Given the description of an element on the screen output the (x, y) to click on. 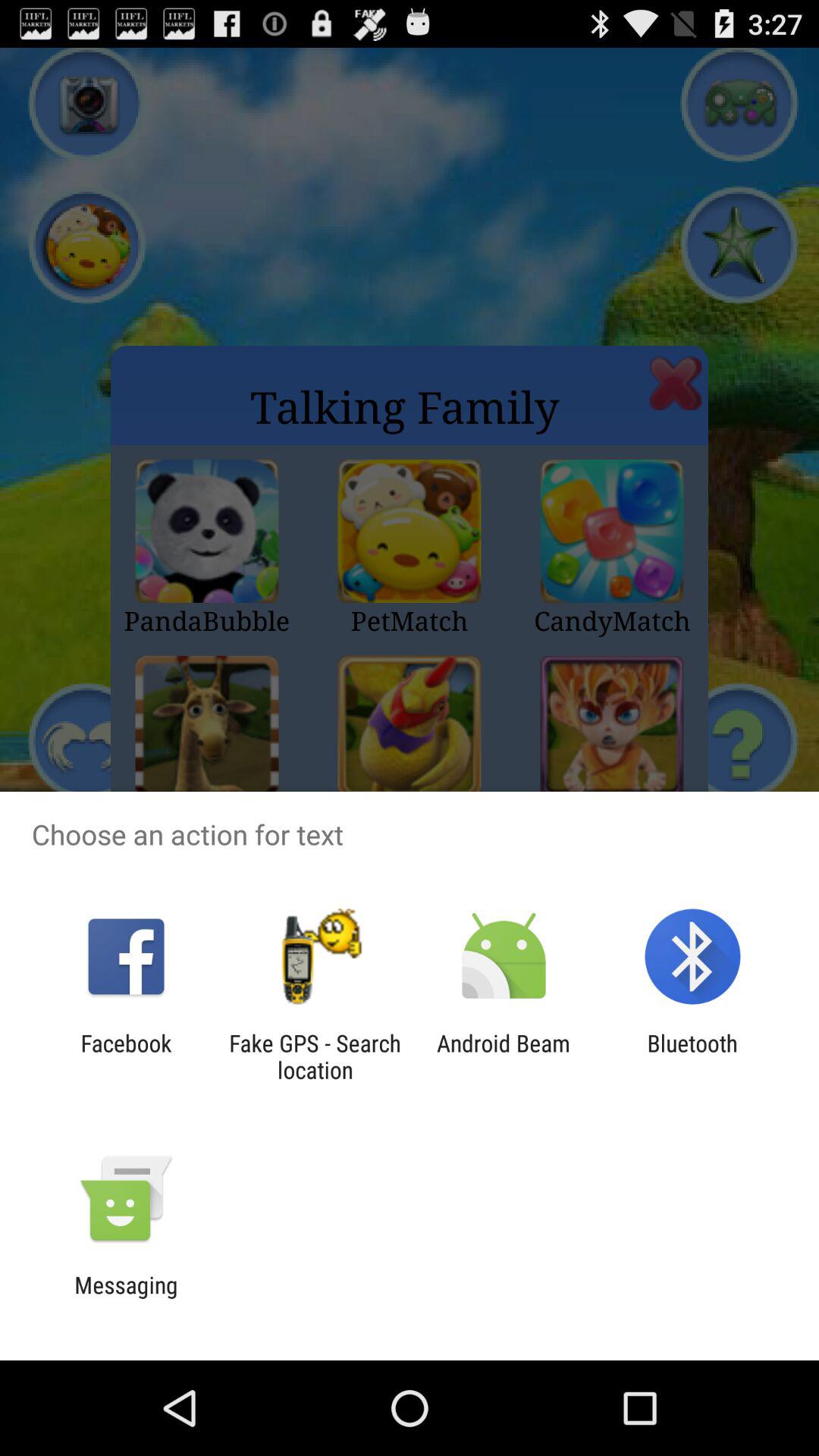
tap the item to the right of the fake gps search item (503, 1056)
